Given the description of an element on the screen output the (x, y) to click on. 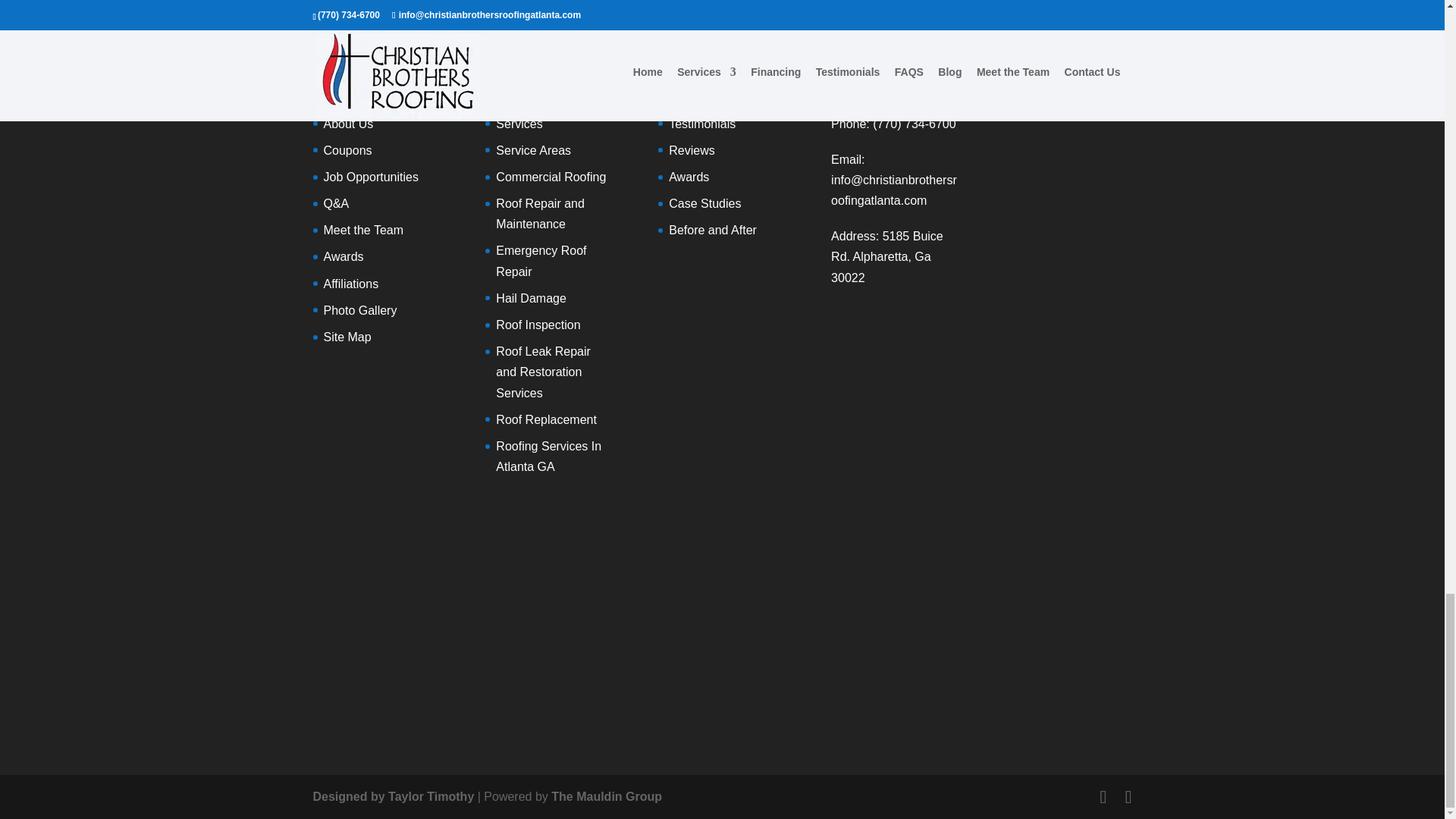
Awards (342, 256)
Coupons (347, 150)
Meet the Team (363, 229)
Job Opportunities (370, 176)
Affiliations (350, 283)
About Us (347, 123)
